Given the description of an element on the screen output the (x, y) to click on. 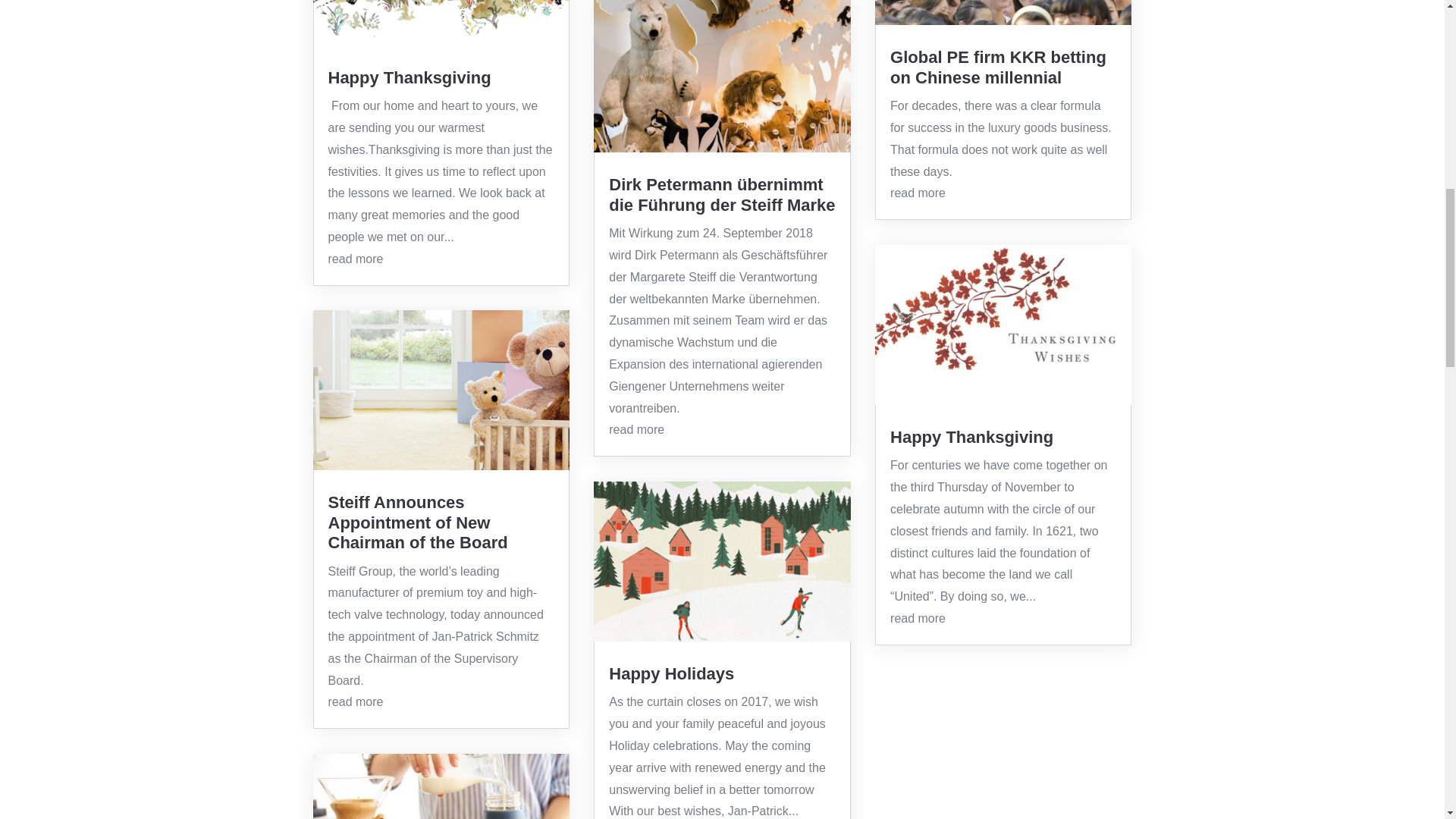
read more (635, 429)
Global PE firm KKR betting on Chinese millennial (997, 66)
Happy Thanksgiving (970, 436)
read more (916, 192)
read more (354, 701)
Happy Holidays (670, 673)
Steiff Announces Appointment of New Chairman of the Board (416, 522)
read more (354, 258)
read more (916, 617)
Happy Thanksgiving (408, 76)
